Given the description of an element on the screen output the (x, y) to click on. 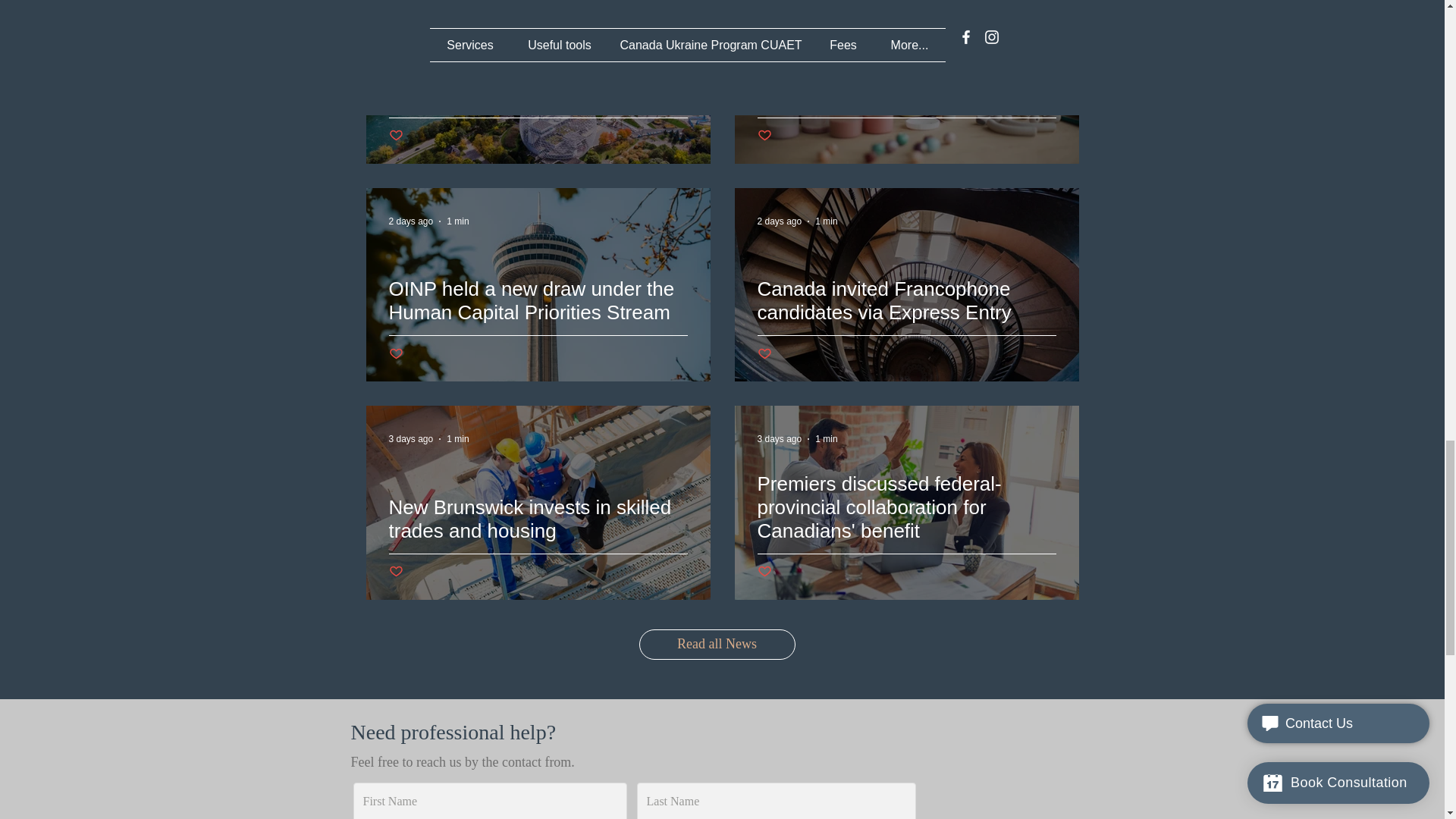
2 days ago (410, 4)
1 min (457, 4)
1 min (826, 439)
1 min (457, 221)
1 min (826, 4)
2 days ago (410, 221)
2 days ago (779, 4)
3 days ago (779, 439)
2 days ago (779, 221)
1 min (826, 221)
1 min (457, 439)
3 days ago (410, 439)
